Given the description of an element on the screen output the (x, y) to click on. 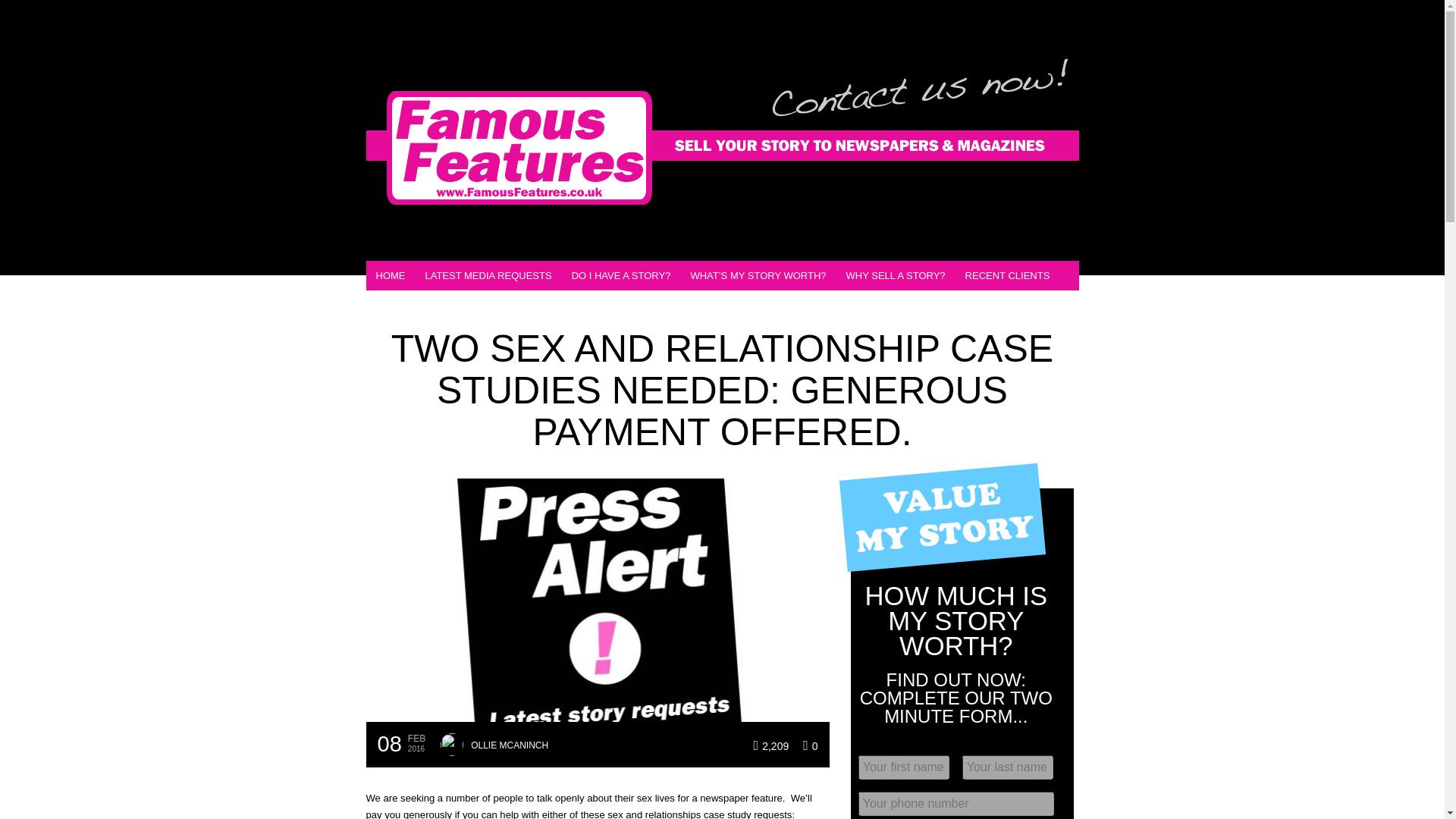
RECENT CLIENTS (1007, 275)
CONTACT (452, 305)
OLLIE MCANINCH (509, 741)
Sell My Story to a Magazine or Newspaper (389, 275)
WHY SELL A STORY? (895, 275)
HOME (389, 275)
LATEST MEDIA REQUESTS (488, 275)
DO I HAVE A STORY? (621, 275)
ABOUT (392, 305)
